Given the description of an element on the screen output the (x, y) to click on. 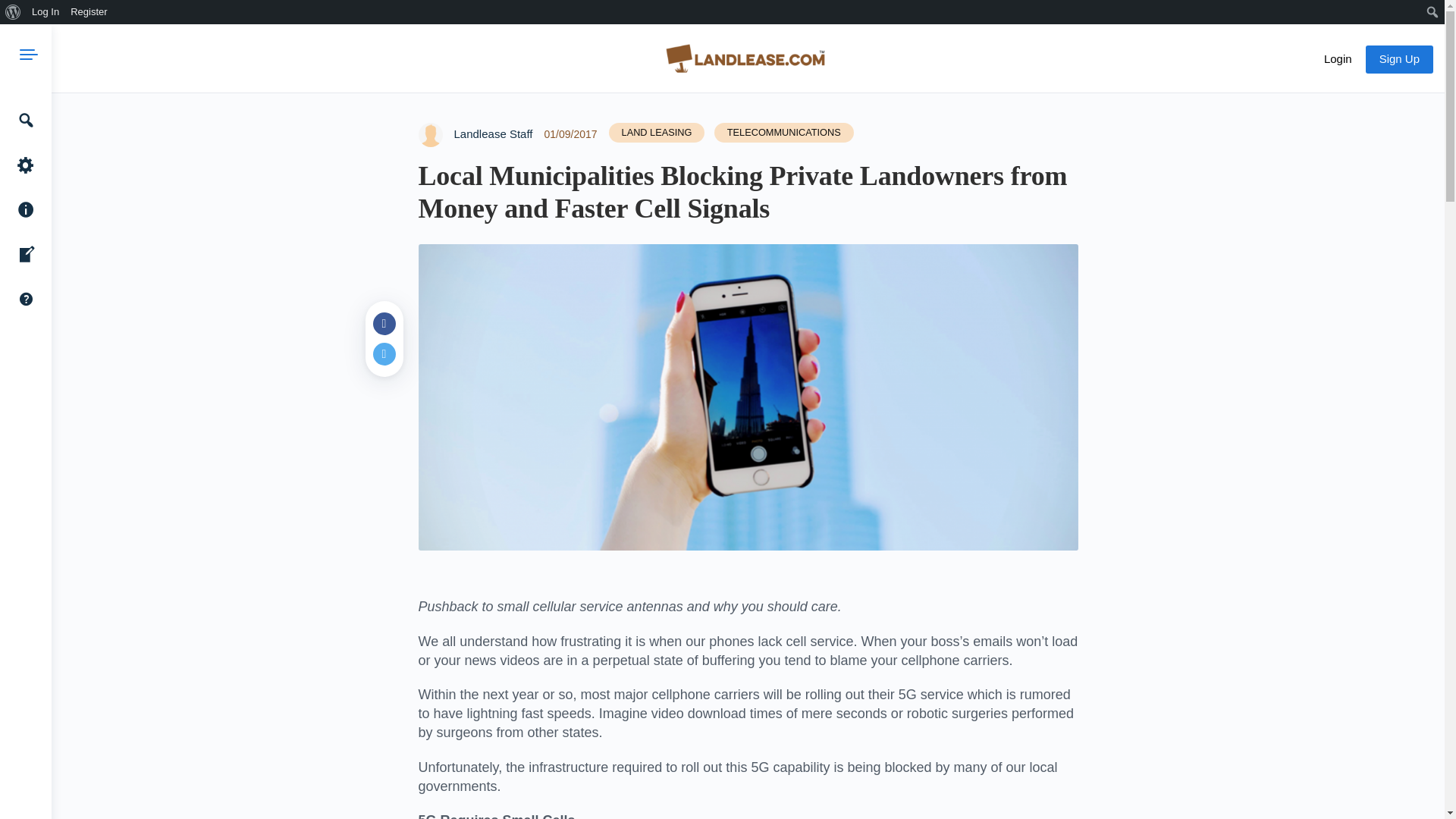
Log In (45, 12)
Register (89, 12)
Search (15, 12)
Twitter (384, 354)
Sign Up (1398, 59)
Facebook (384, 323)
Sign Up (1398, 59)
Login (1337, 59)
Login (1337, 59)
